Given the description of an element on the screen output the (x, y) to click on. 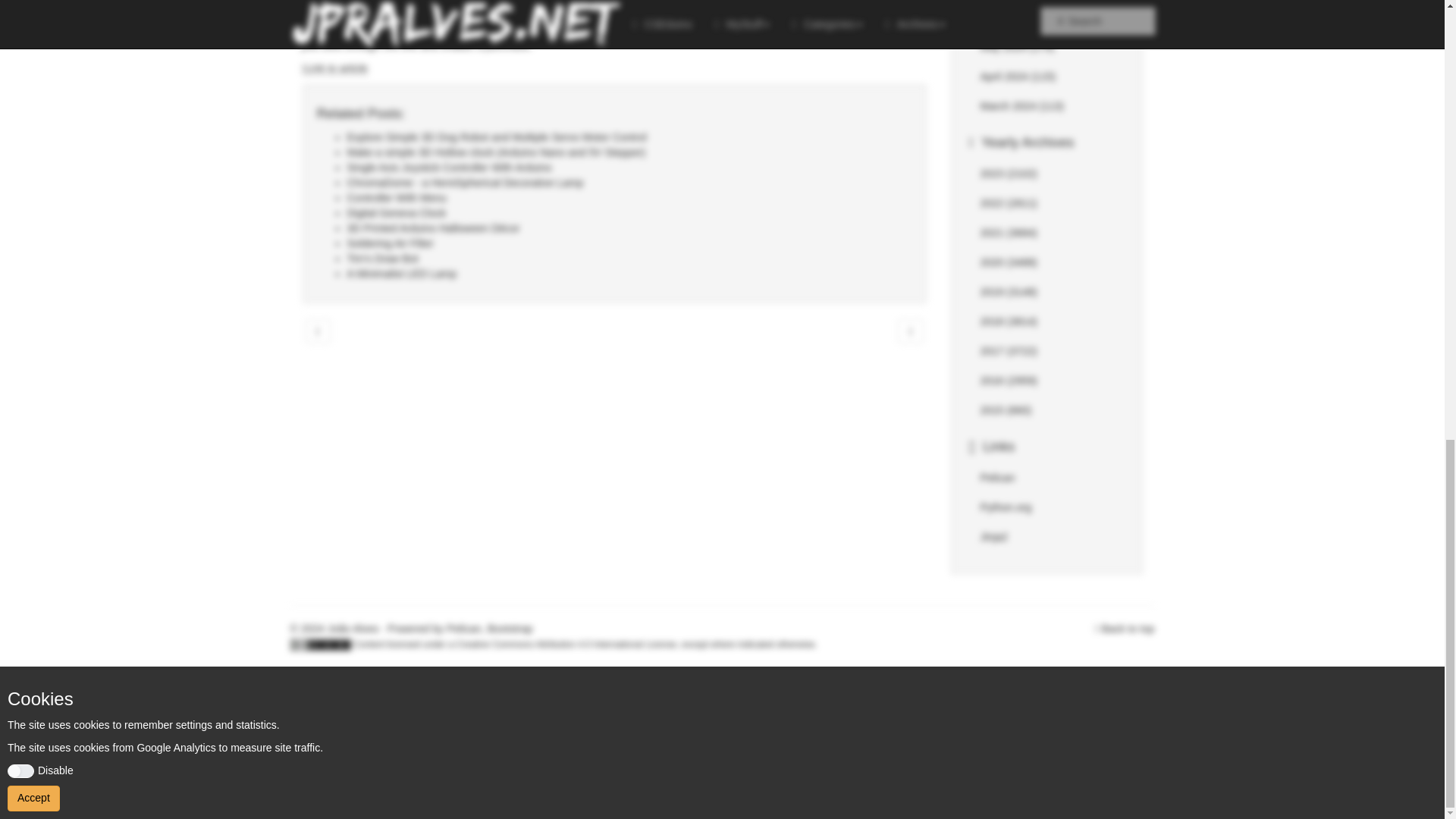
Explore Simple 3D Dog Robot and Multiple Servo Motor Control (496, 137)
Link for Python.org (1004, 507)
Link to article (334, 68)
Link for Jinja2 (993, 536)
Single Axis Joystick Controller With Arduino (449, 167)
Link for Pelican (996, 477)
